Given the description of an element on the screen output the (x, y) to click on. 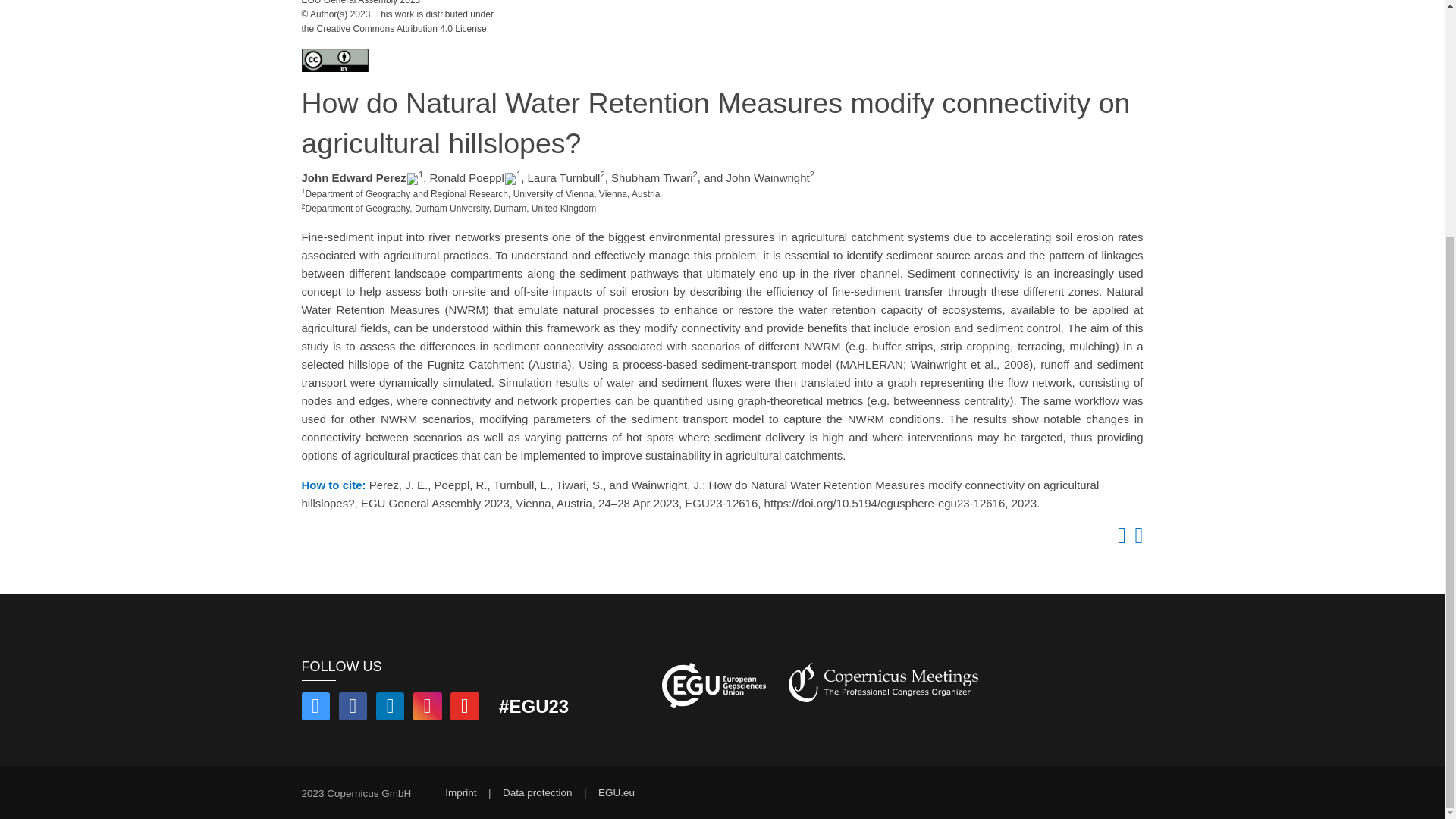
Follow us on Twitter (315, 707)
Find us on LinkedIn (389, 707)
Find us on YouTube (464, 707)
Find us on Instagram (427, 707)
Follow us on Facebook (353, 707)
Copy to clipboard (1118, 538)
Open QR code linking to abstract URL (1135, 538)
